Given the description of an element on the screen output the (x, y) to click on. 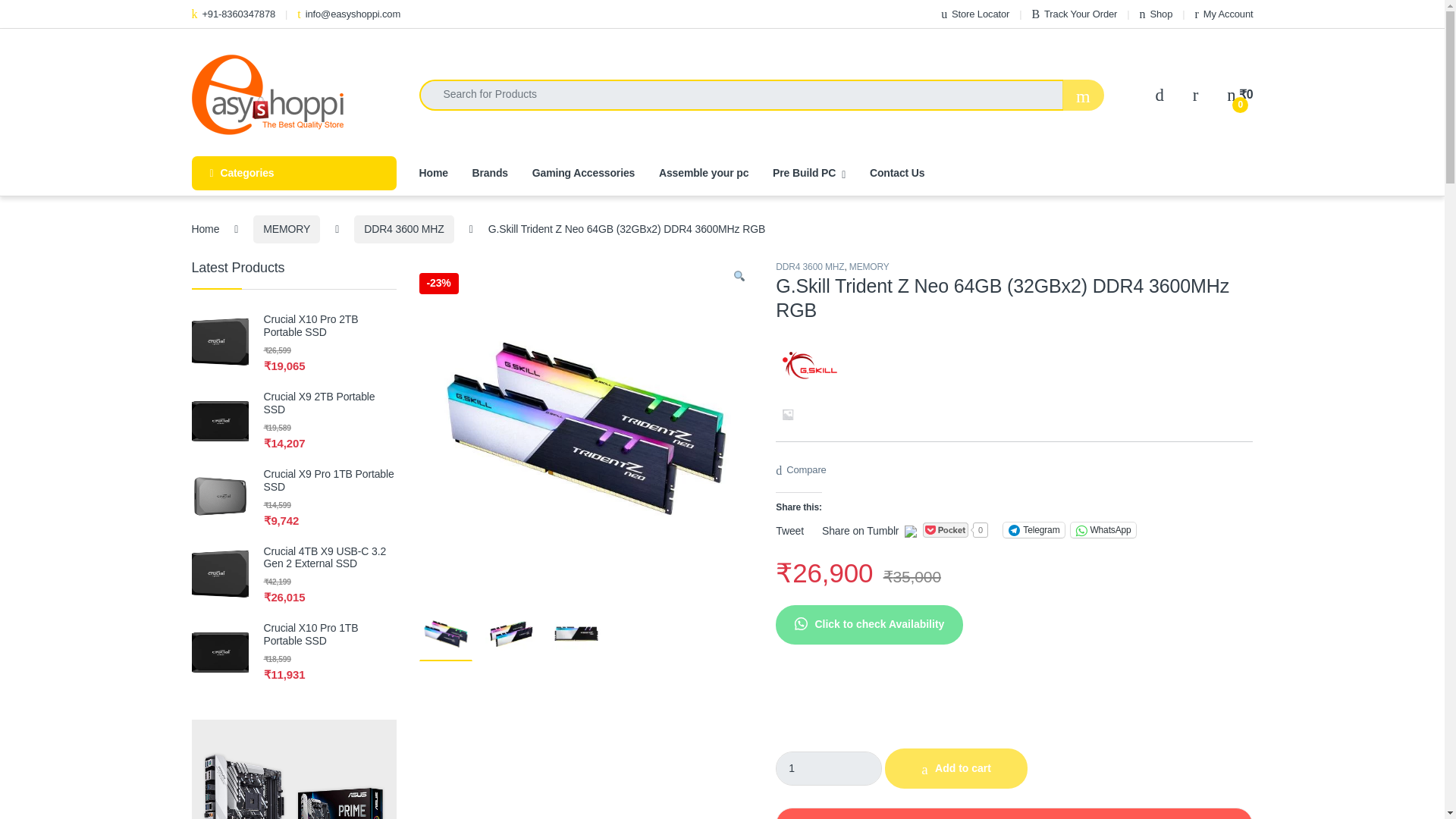
My Account (1224, 13)
1 (829, 768)
Shop (1156, 13)
Track Your Order (1073, 13)
My Account (1224, 13)
Track Your Order (1073, 13)
Store Locator (974, 13)
Store Locator (974, 13)
Shop (1156, 13)
